Given the description of an element on the screen output the (x, y) to click on. 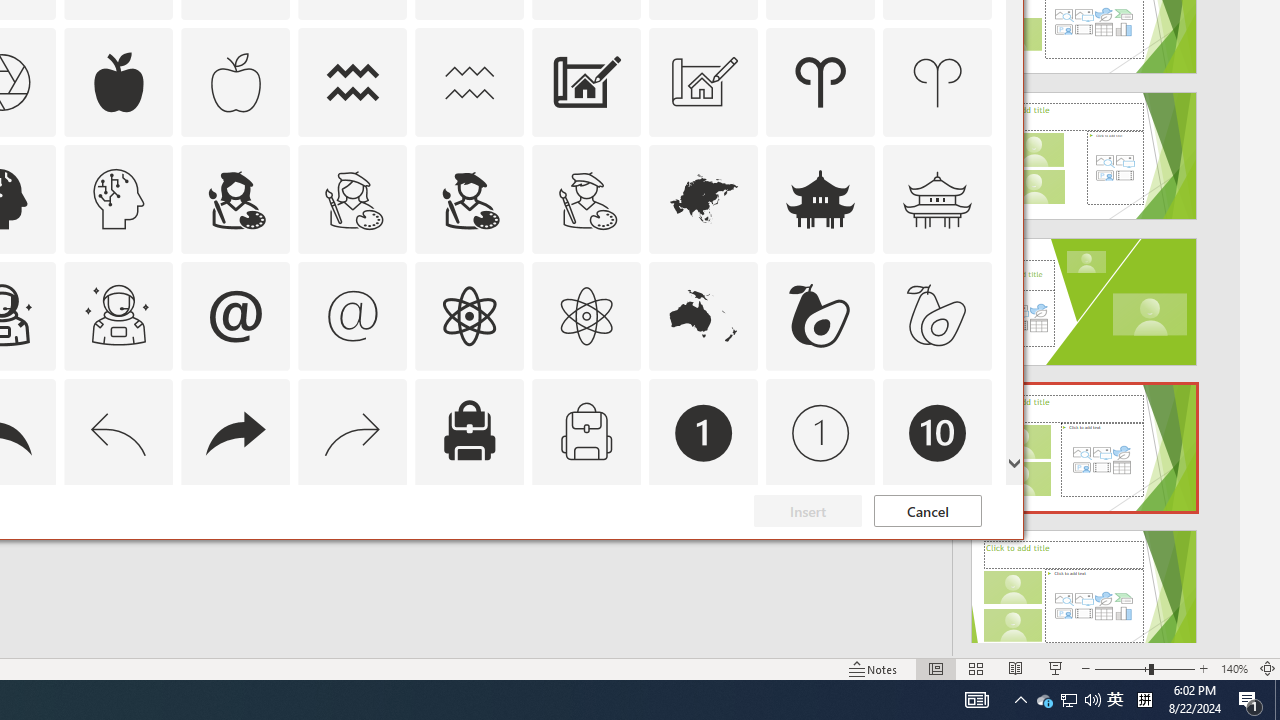
AutomationID: Icons_At_M (353, 316)
AutomationID: Icons_Aquarius (353, 82)
AutomationID: Icons_Avocado_M (938, 316)
Action Center, 1 new notification (1250, 699)
AutomationID: Icons_AsianTemple_M (938, 198)
AutomationID: Icons_Backpack (469, 432)
AutomationID: Icons_Backpack_M (586, 432)
AutomationID: Icons_Badge1_M (820, 432)
